Given the description of an element on the screen output the (x, y) to click on. 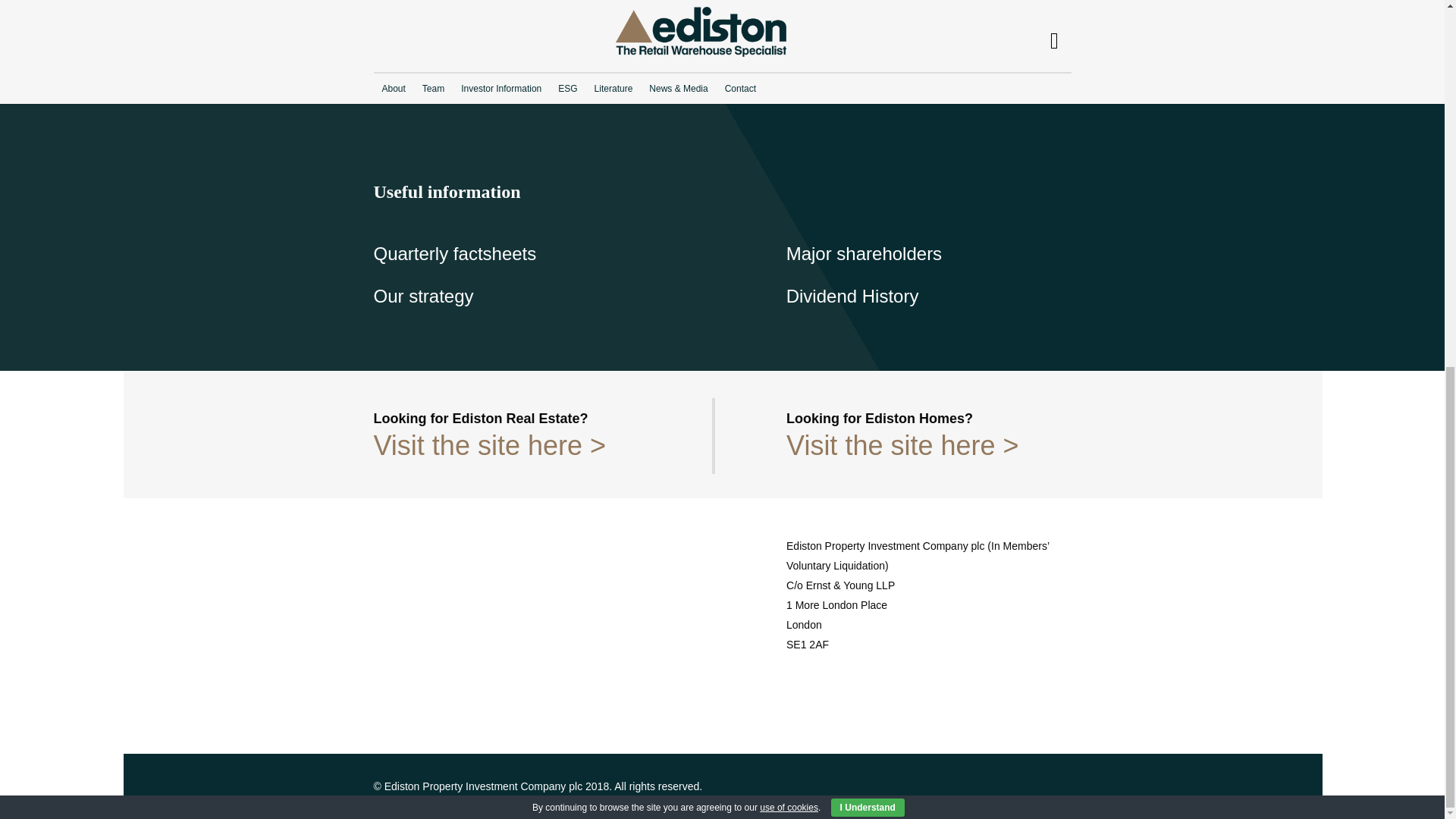
I Understand (867, 147)
Major shareholders (864, 253)
Dividend History (852, 295)
use of cookies (789, 146)
Quarterly factsheets (453, 253)
Our strategy (422, 295)
